Given the description of an element on the screen output the (x, y) to click on. 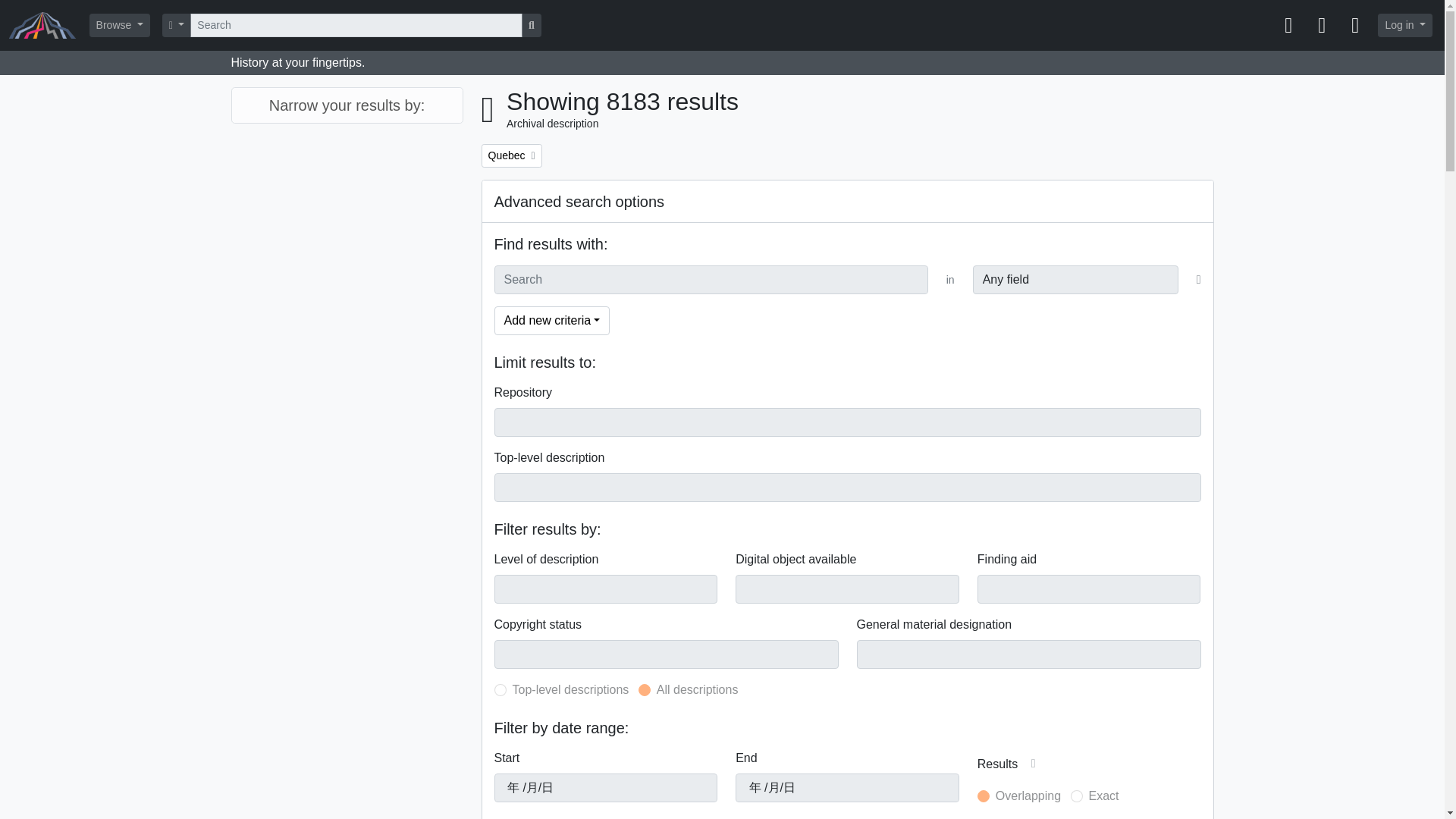
Browse (118, 24)
Language (1321, 25)
Home (48, 25)
Log in (1404, 24)
Skip to main content (54, 11)
exact (1076, 796)
inclusive (983, 796)
Quick links (1354, 25)
Narrow your results by: (346, 104)
Quick links (1354, 25)
0 (644, 689)
Clipboard (1287, 25)
1 (500, 689)
Search options (176, 24)
Language (1321, 25)
